Given the description of an element on the screen output the (x, y) to click on. 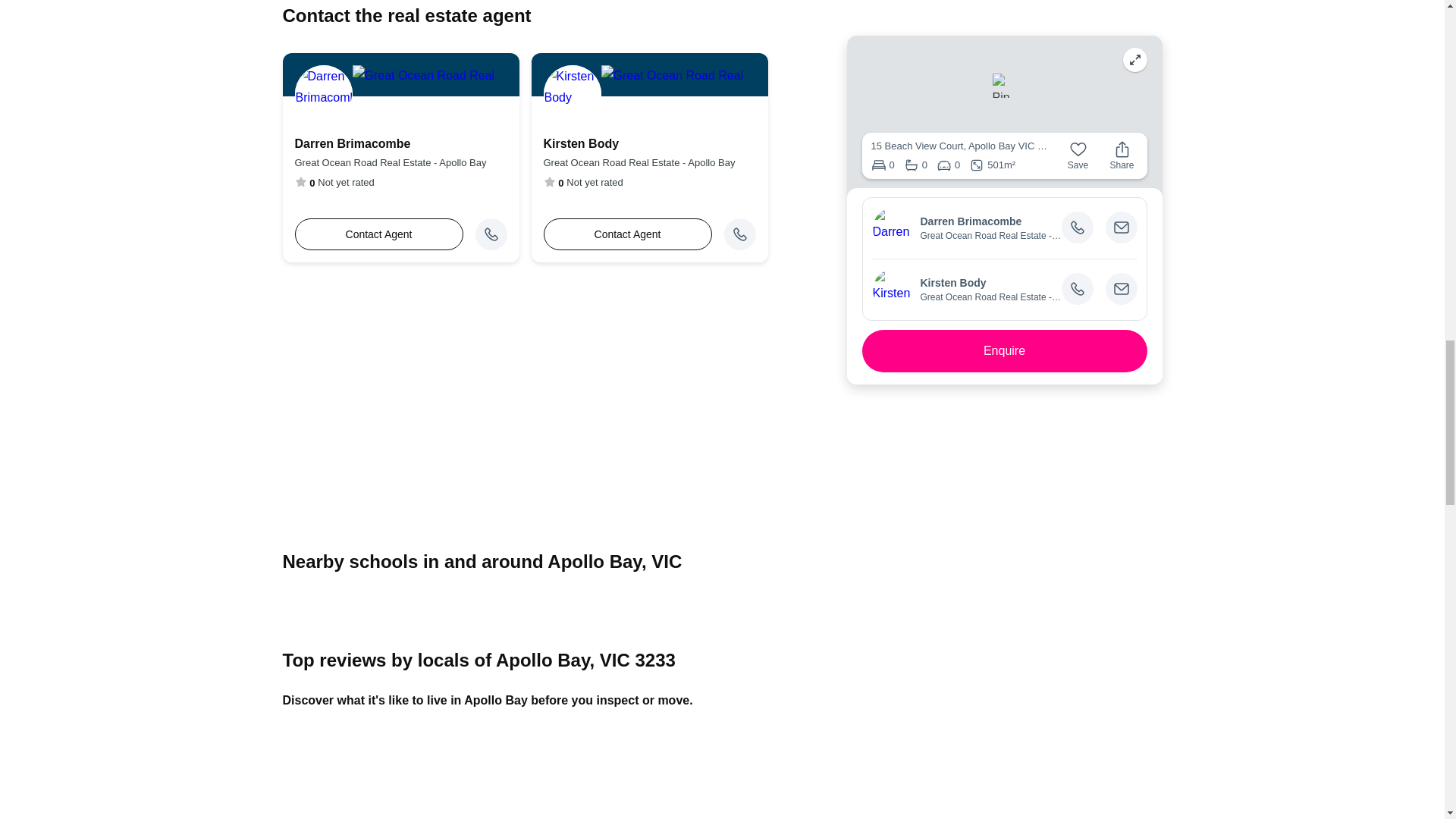
Contact Agent (378, 234)
